Given the description of an element on the screen output the (x, y) to click on. 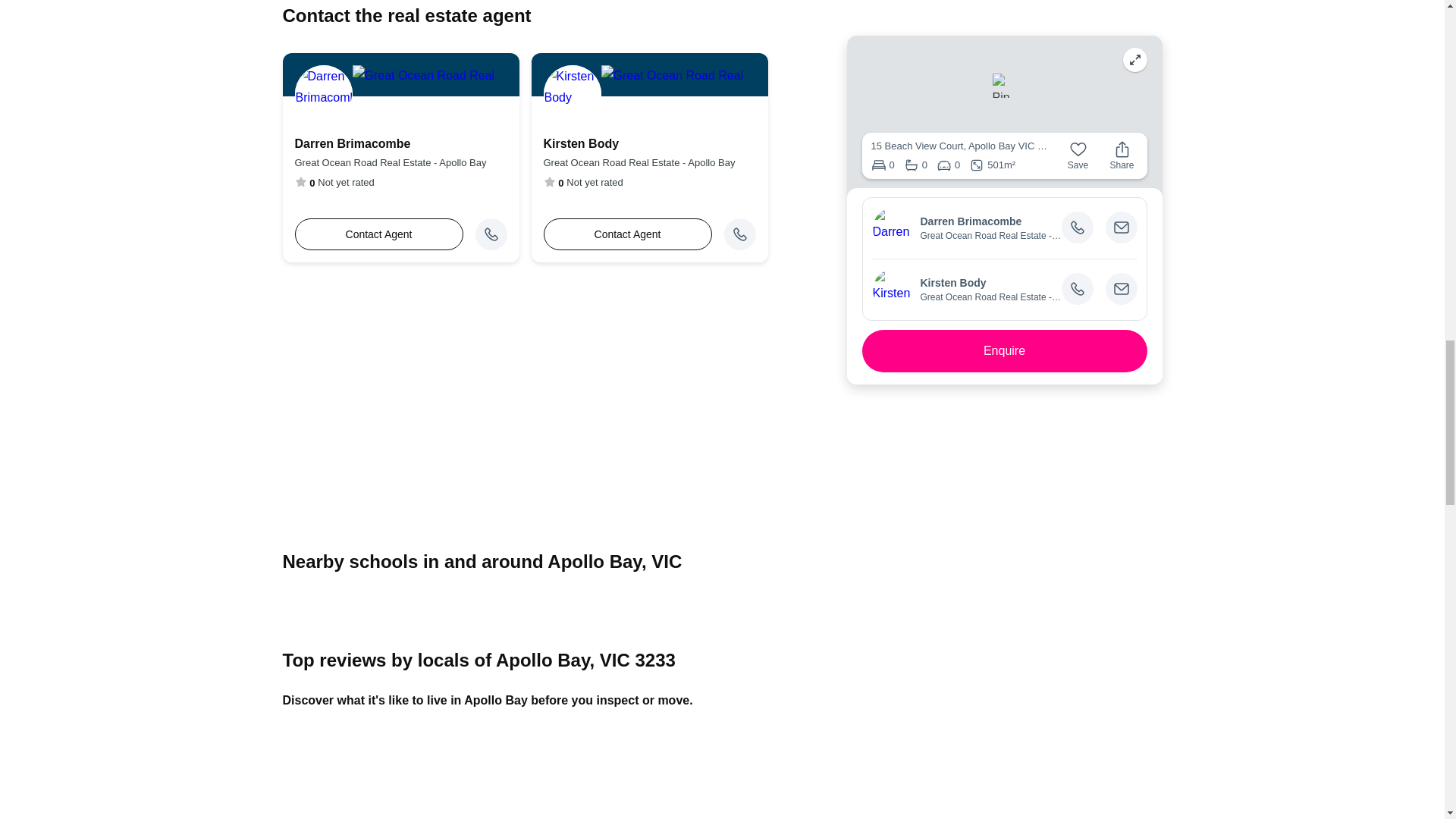
Contact Agent (378, 234)
